Given the description of an element on the screen output the (x, y) to click on. 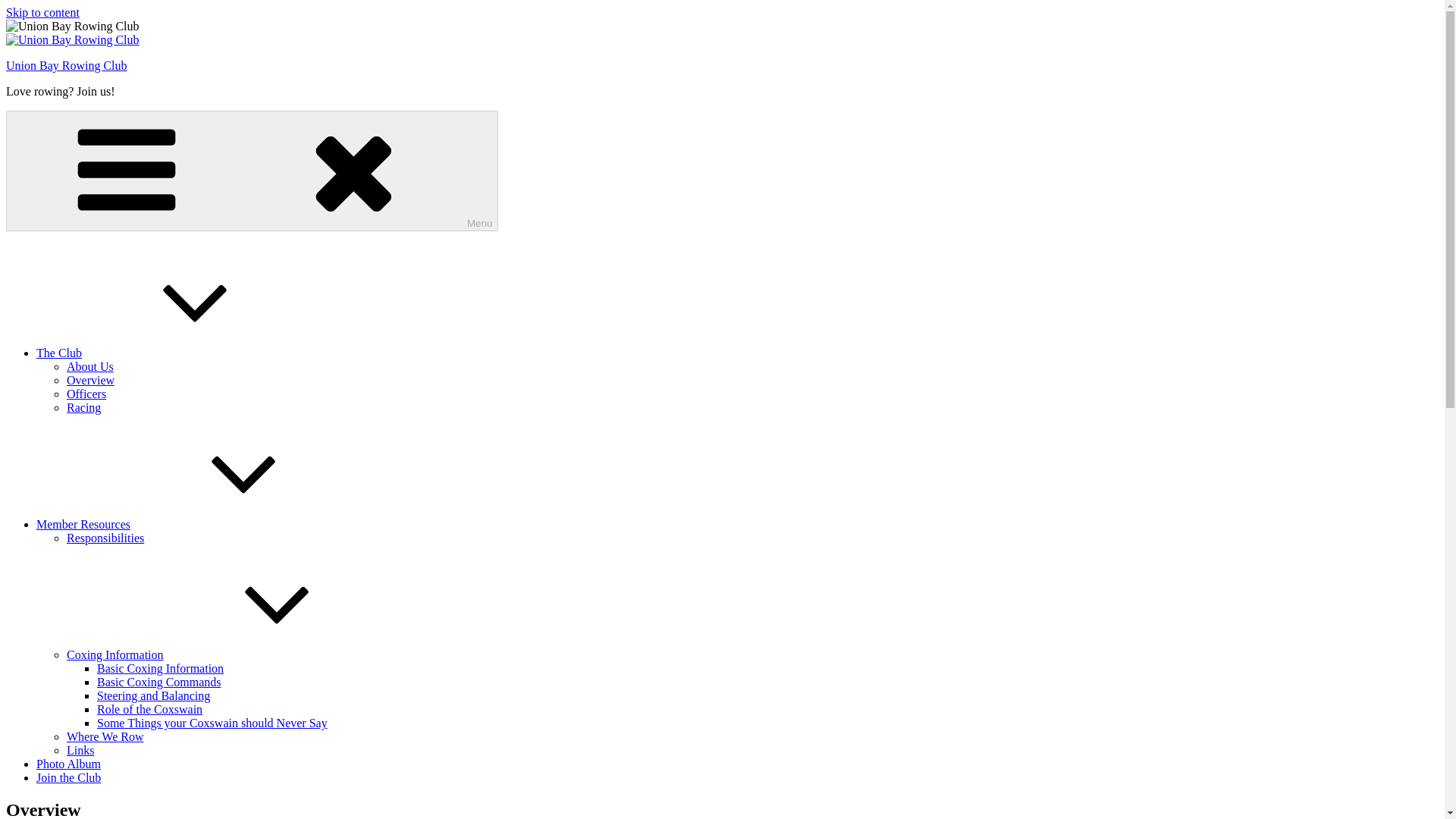
Union Bay Rowing Club (66, 65)
Steering and Balancing (153, 695)
Overview (90, 379)
Member Resources (197, 523)
The Club (172, 352)
Racing (83, 407)
Skip to content (42, 11)
Responsibilities (105, 537)
About Us (89, 366)
Menu (251, 170)
Some Things your Coxswain should Never Say (212, 722)
Coxing Information (228, 654)
Photo Album (68, 763)
Where We Row (105, 736)
Links (80, 749)
